Given the description of an element on the screen output the (x, y) to click on. 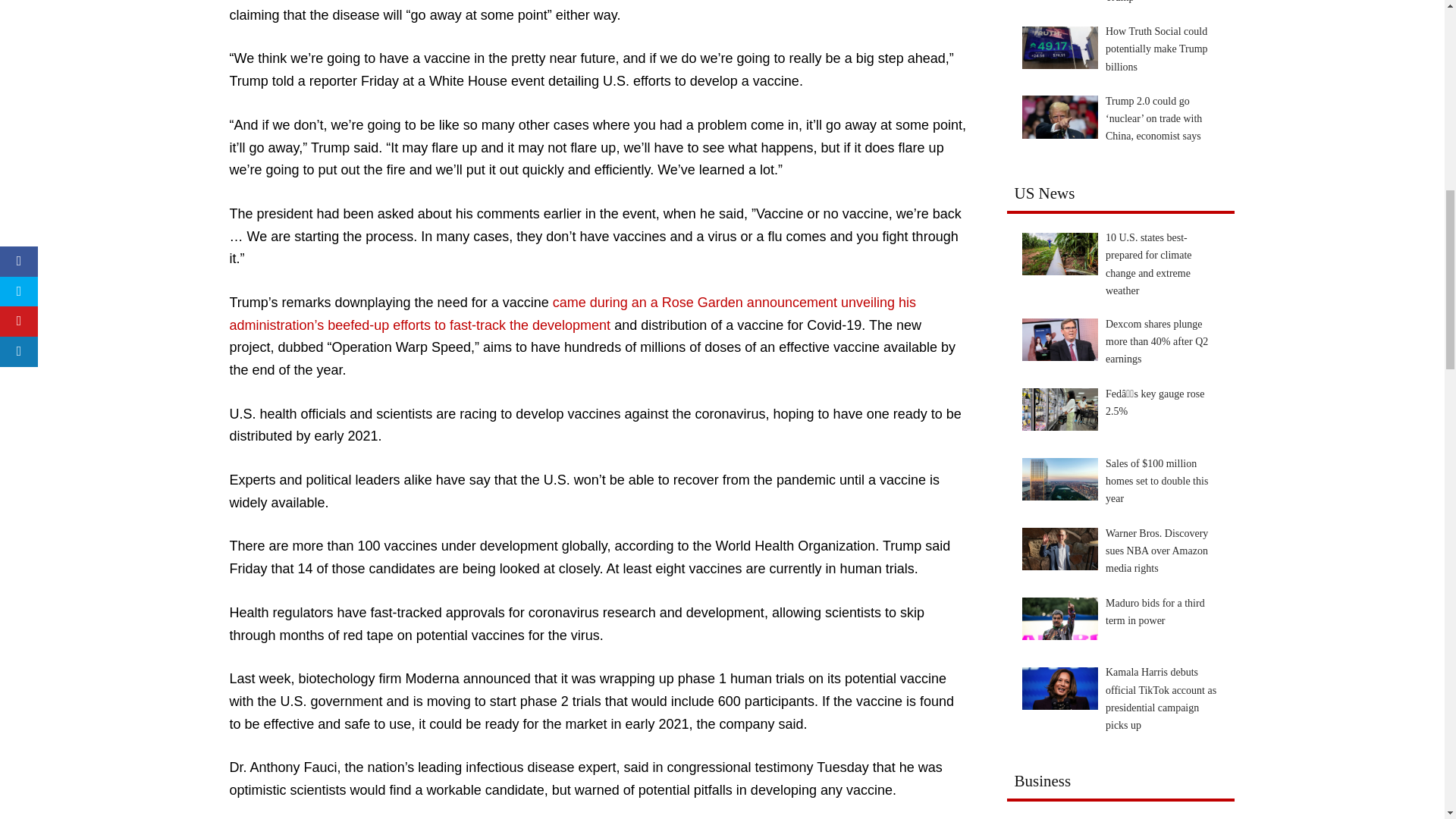
How Truth Social could potentially make Trump billions (1059, 46)
Sales of 0 million homes set to double this year (1059, 478)
